Given the description of an element on the screen output the (x, y) to click on. 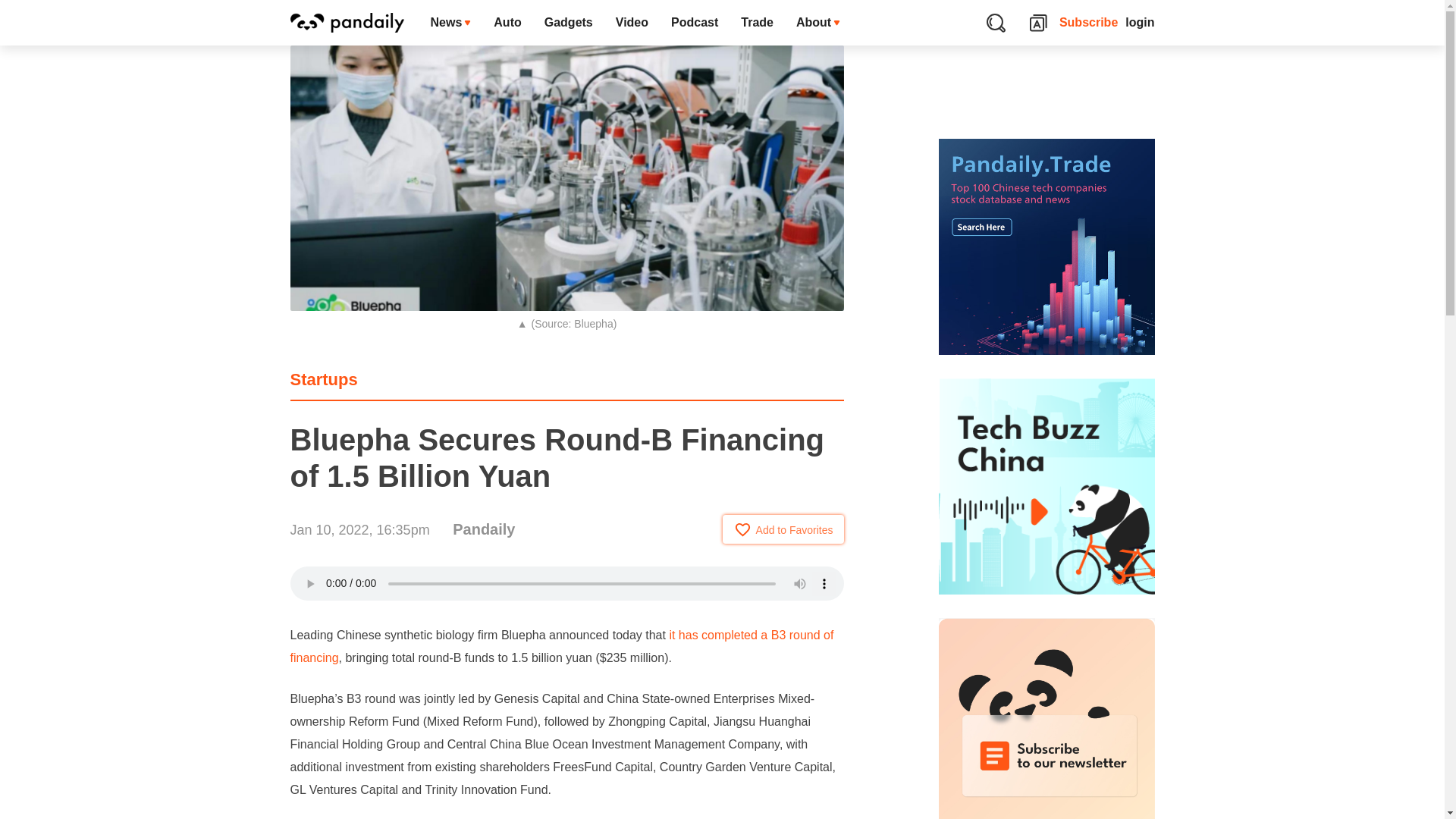
Pandaily (483, 528)
login (1139, 22)
Podcast (694, 22)
Video (631, 22)
Auto (506, 22)
Subscribe (1088, 22)
Gadgets (568, 22)
Startups (322, 379)
Add to Favorites (783, 529)
Jan 10, 2022, 16:35pm (359, 529)
